Given the description of an element on the screen output the (x, y) to click on. 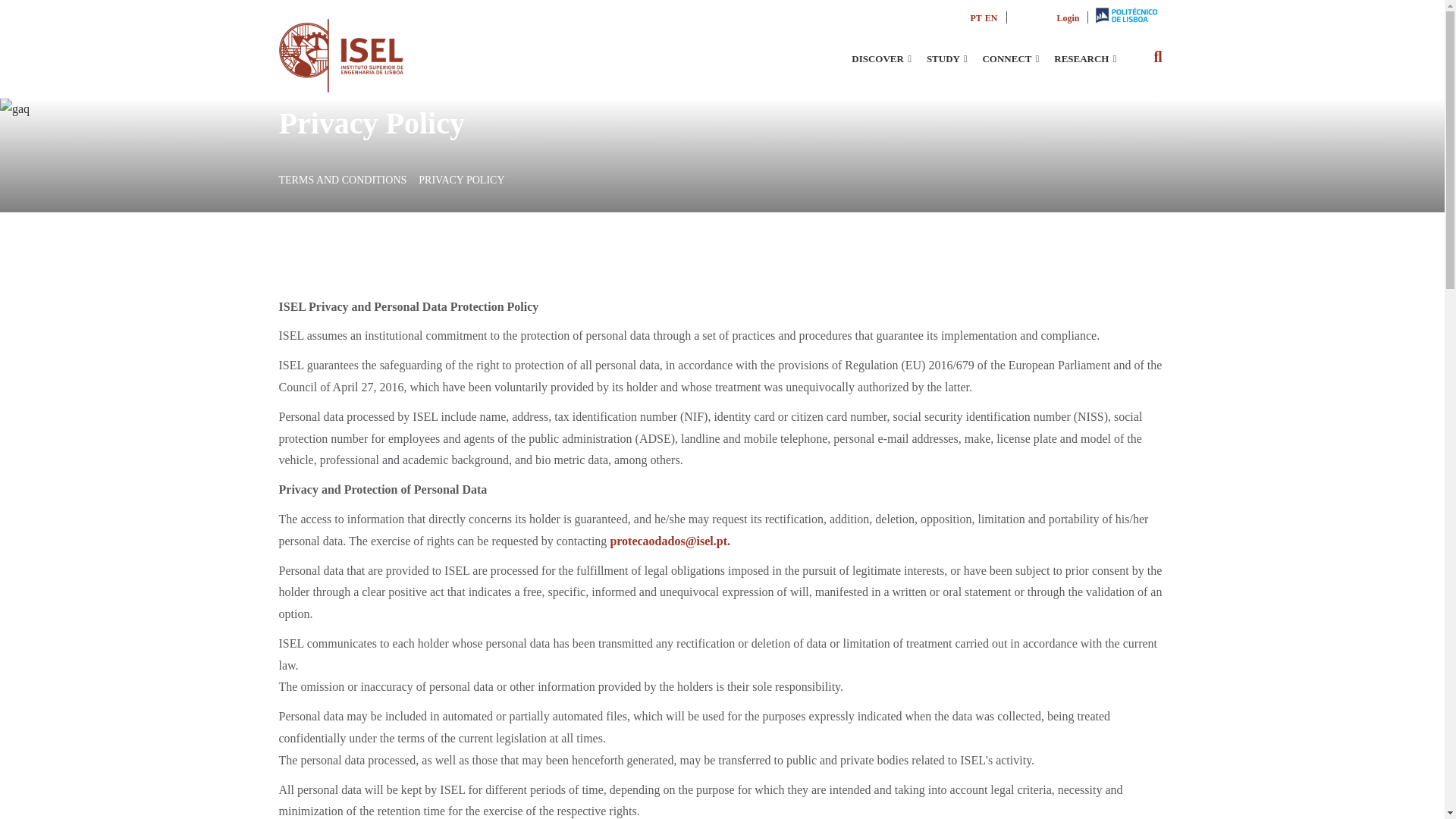
Home (341, 42)
DISCOVER (881, 58)
EN (991, 18)
PT (975, 18)
CONNECT (1010, 58)
Login (1067, 18)
STUDY (946, 58)
